Given the description of an element on the screen output the (x, y) to click on. 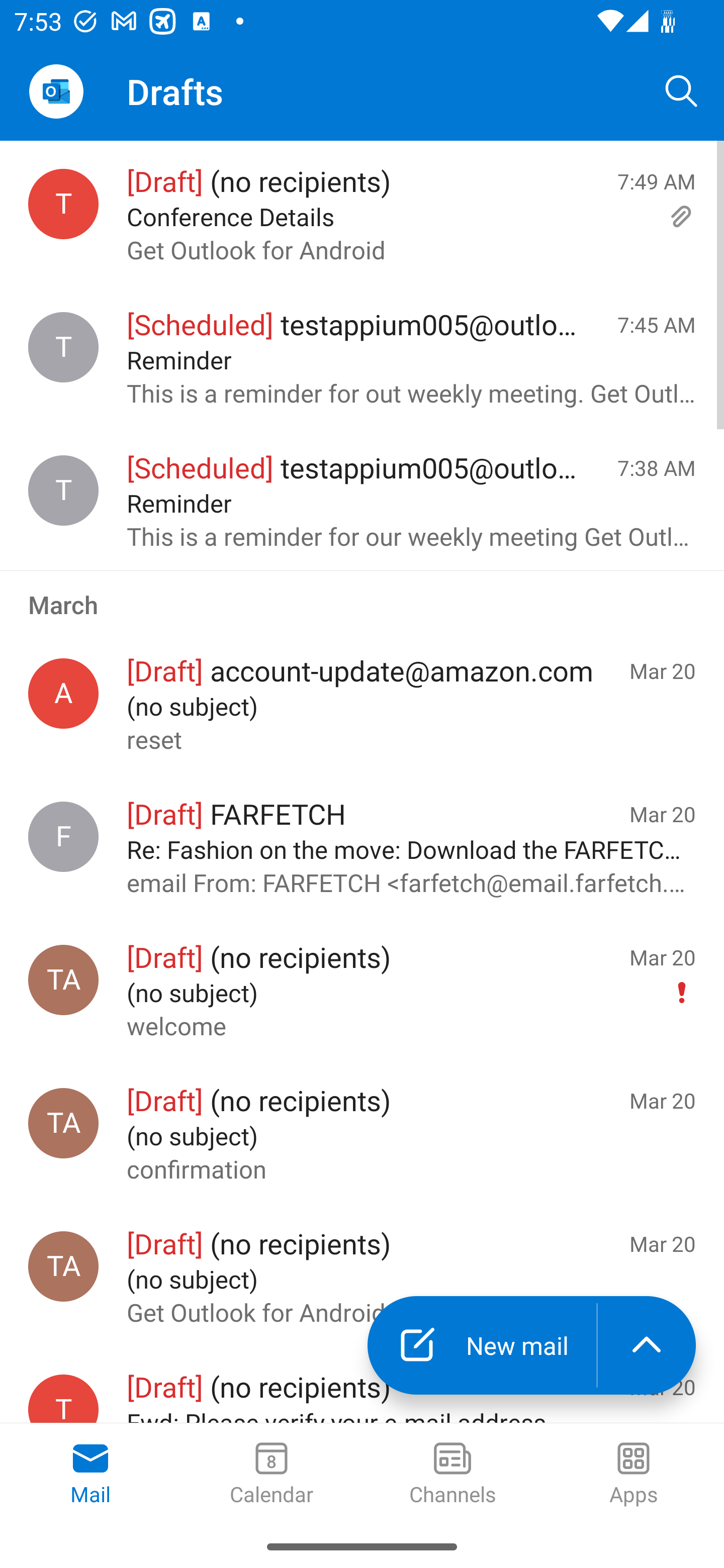
Search, ,  (681, 90)
Open Navigation Drawer (55, 91)
testappium002@outlook.com (63, 204)
account-update@amazon.com (63, 693)
FARFETCH, testappium002@outlook.com (63, 836)
Test Appium, testappium002@outlook.com (63, 979)
Test Appium, testappium002@outlook.com (63, 1123)
Test Appium, testappium002@outlook.com (63, 1265)
New mail (481, 1344)
launch the extended action menu (646, 1344)
Calendar (271, 1474)
Channels (452, 1474)
Apps (633, 1474)
